Given the description of an element on the screen output the (x, y) to click on. 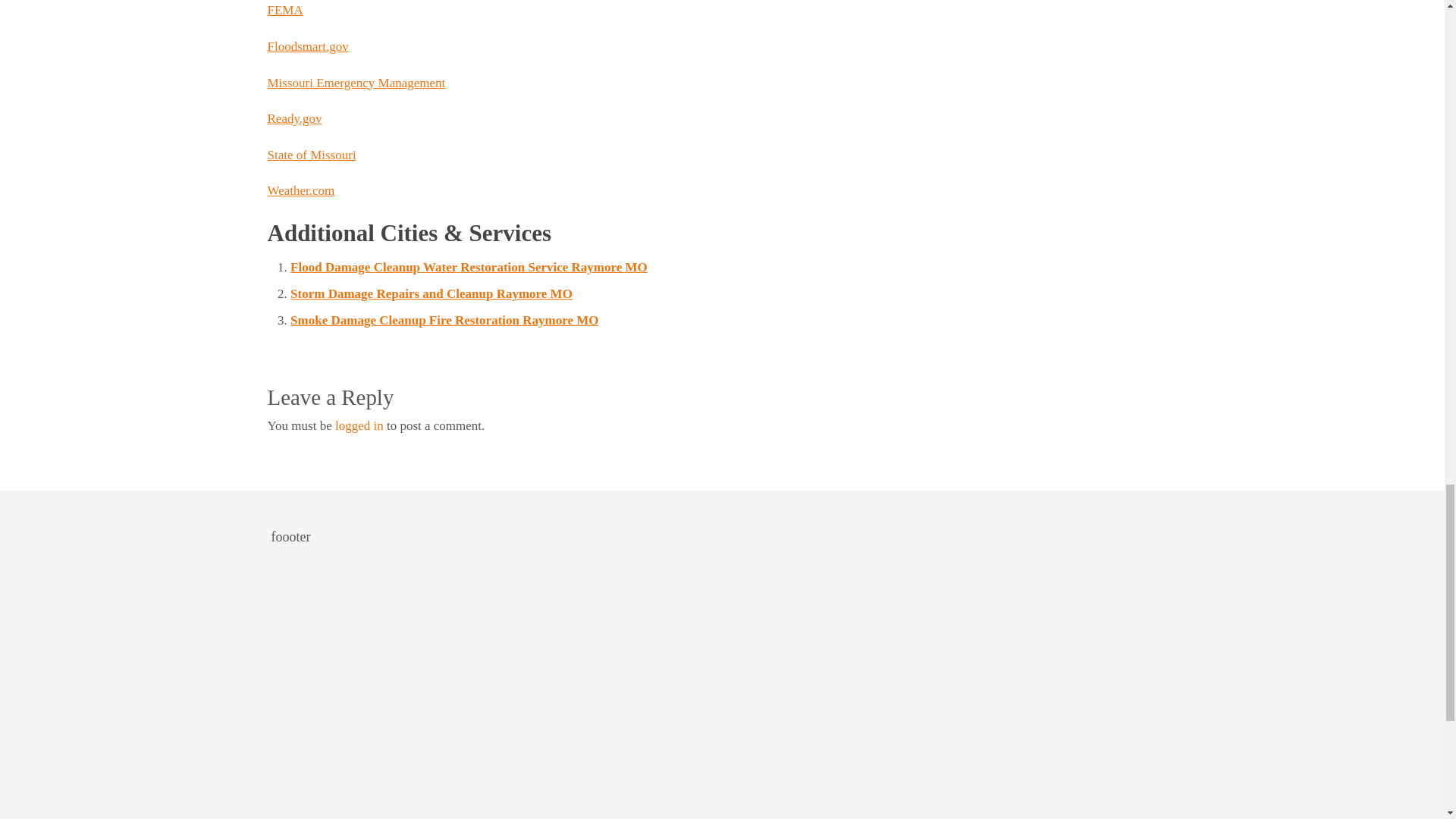
Flood Damage Cleanup Water Restoration Service Raymore MO (468, 267)
Storm Damage Repairs and Cleanup Raymore MO (430, 293)
logged in (359, 425)
Weather.com (300, 190)
Storm Damage Repairs and Cleanup Raymore MO (430, 293)
Missouri Emergency Management (355, 83)
Floodsmart.gov (306, 46)
Ready.gov (293, 118)
Smoke Damage Cleanup Fire Restoration Raymore MO (443, 319)
Smoke Damage Cleanup Fire Restoration Raymore MO (443, 319)
